Given the description of an element on the screen output the (x, y) to click on. 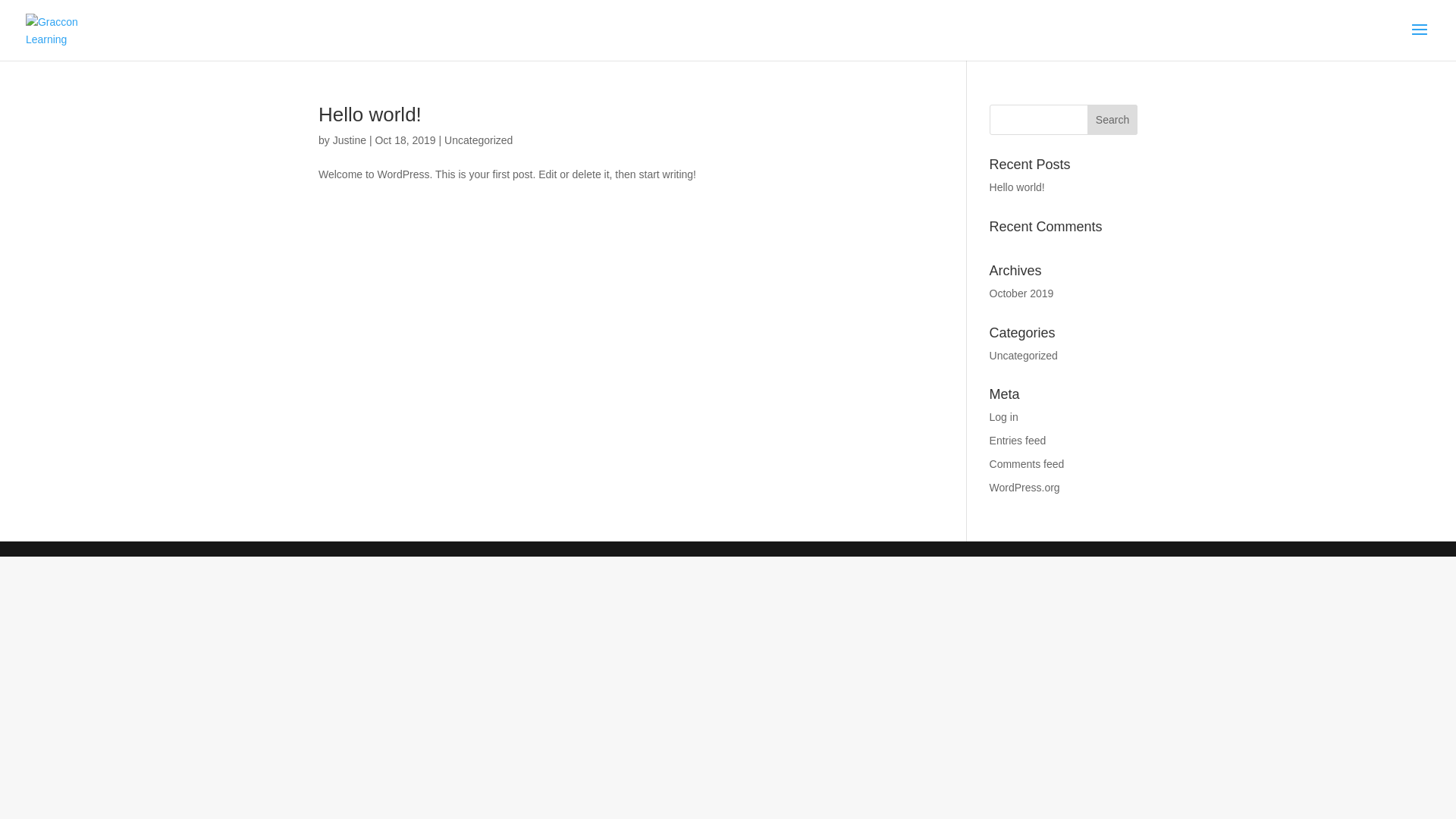
Comments feed Element type: text (1026, 464)
Search Element type: text (1112, 119)
Uncategorized Element type: text (1023, 355)
Justine Element type: text (349, 140)
Hello world! Element type: text (369, 114)
Hello world! Element type: text (1016, 187)
Uncategorized Element type: text (478, 140)
Entries feed Element type: text (1017, 440)
WordPress.org Element type: text (1024, 487)
Log in Element type: text (1003, 417)
October 2019 Element type: text (1021, 293)
